Given the description of an element on the screen output the (x, y) to click on. 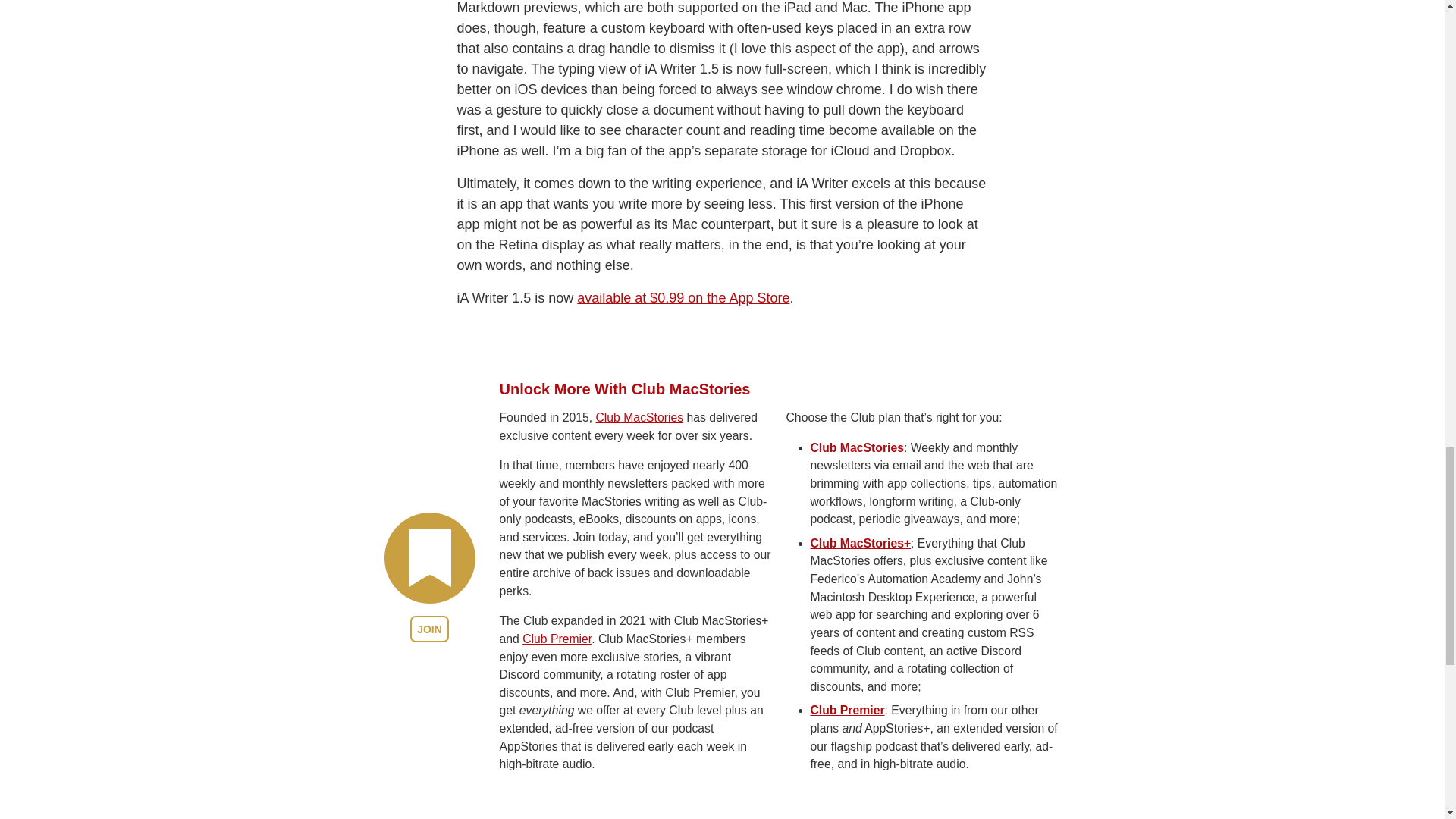
Club MacStories (855, 447)
Club MacStories (638, 417)
JOIN (429, 628)
Club Premier (556, 638)
